Given the description of an element on the screen output the (x, y) to click on. 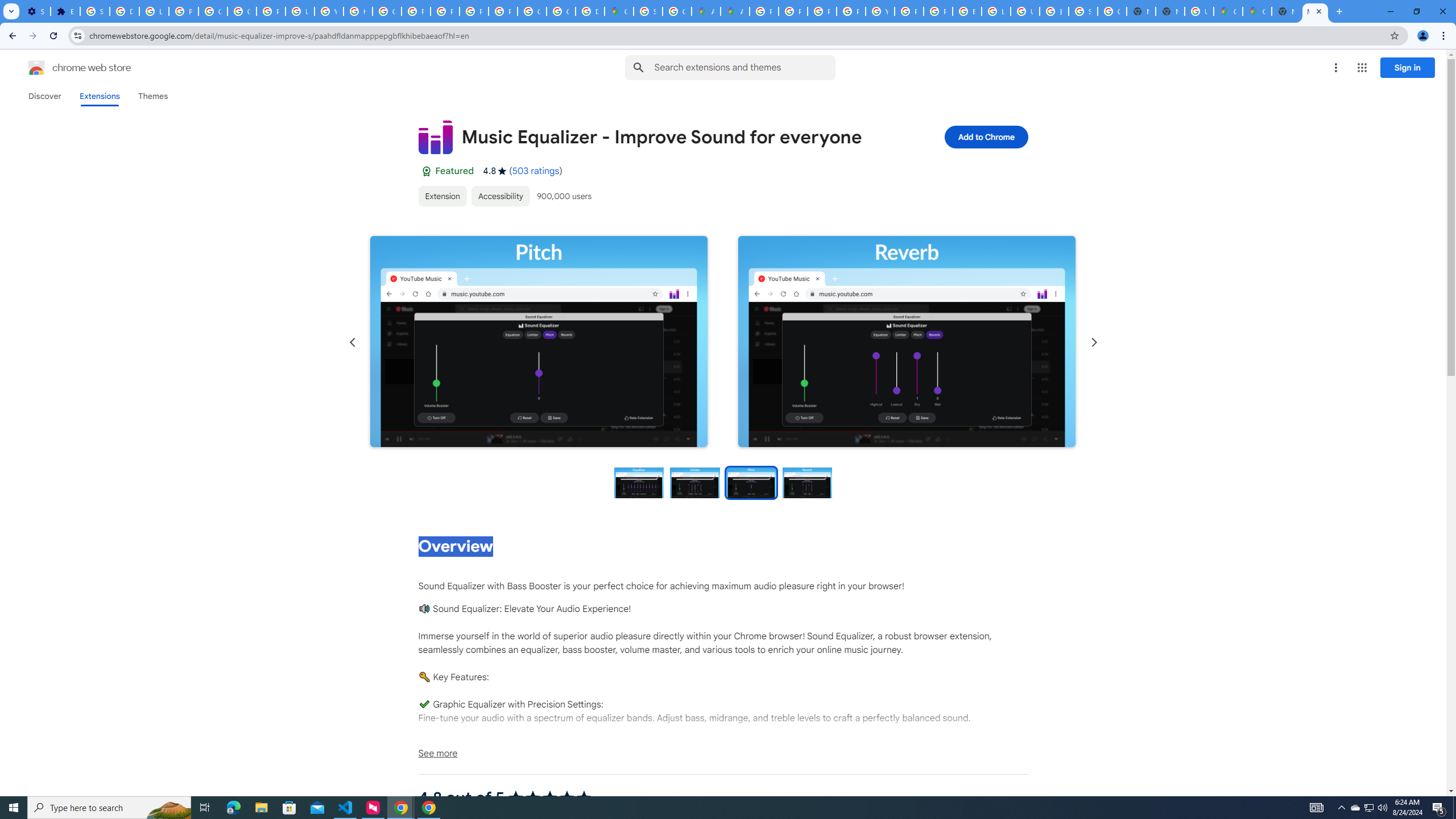
Sign in - Google Accounts (648, 11)
Extensions (99, 95)
Search input (744, 67)
503 ratings (535, 170)
New Tab (1286, 11)
Add to Chrome (985, 136)
New Tab (1169, 11)
Privacy Help Center - Policies Help (821, 11)
